Given the description of an element on the screen output the (x, y) to click on. 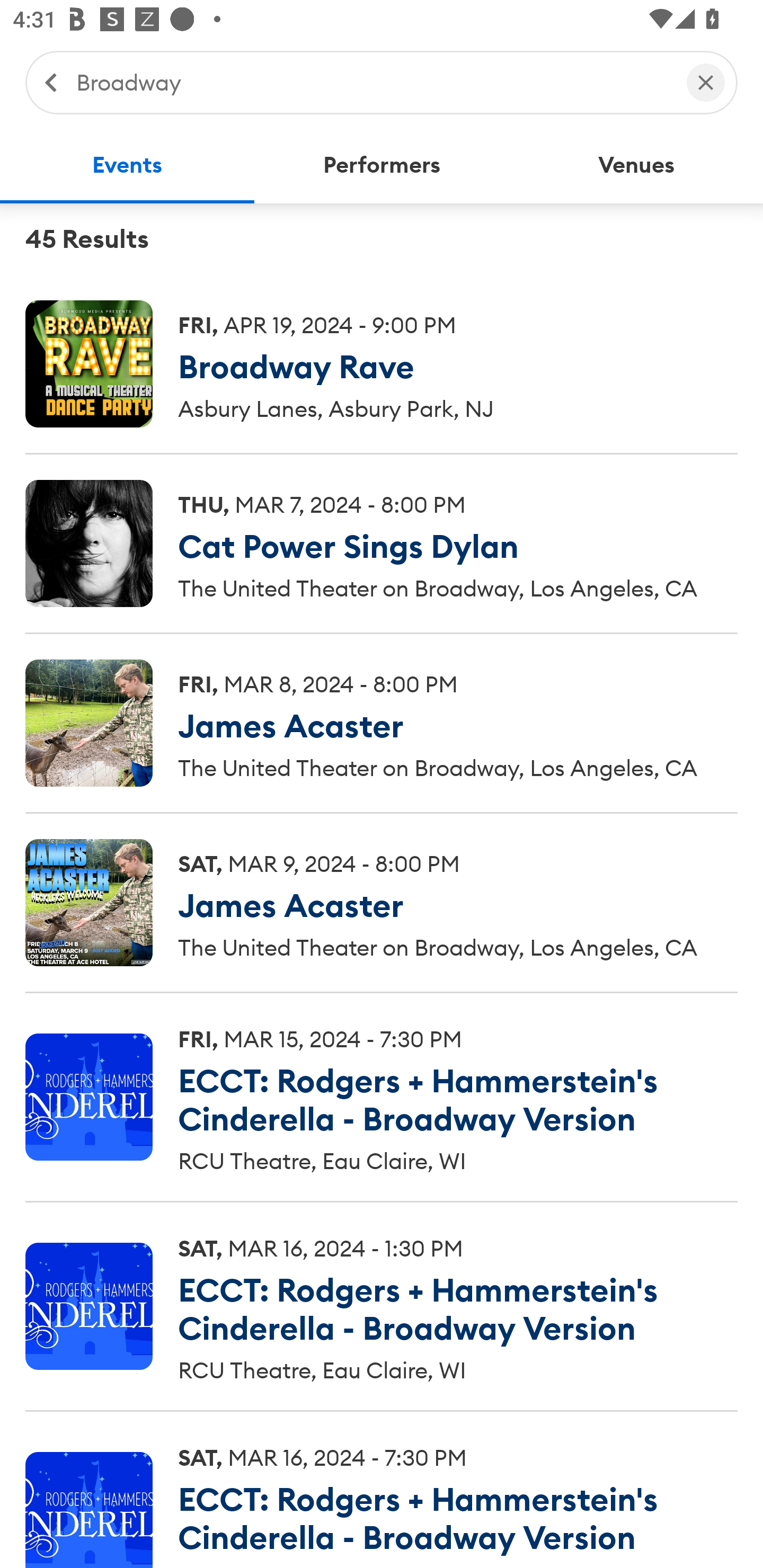
Broadway (371, 81)
Clear Search (705, 81)
Performers (381, 165)
Venues (635, 165)
